Given the description of an element on the screen output the (x, y) to click on. 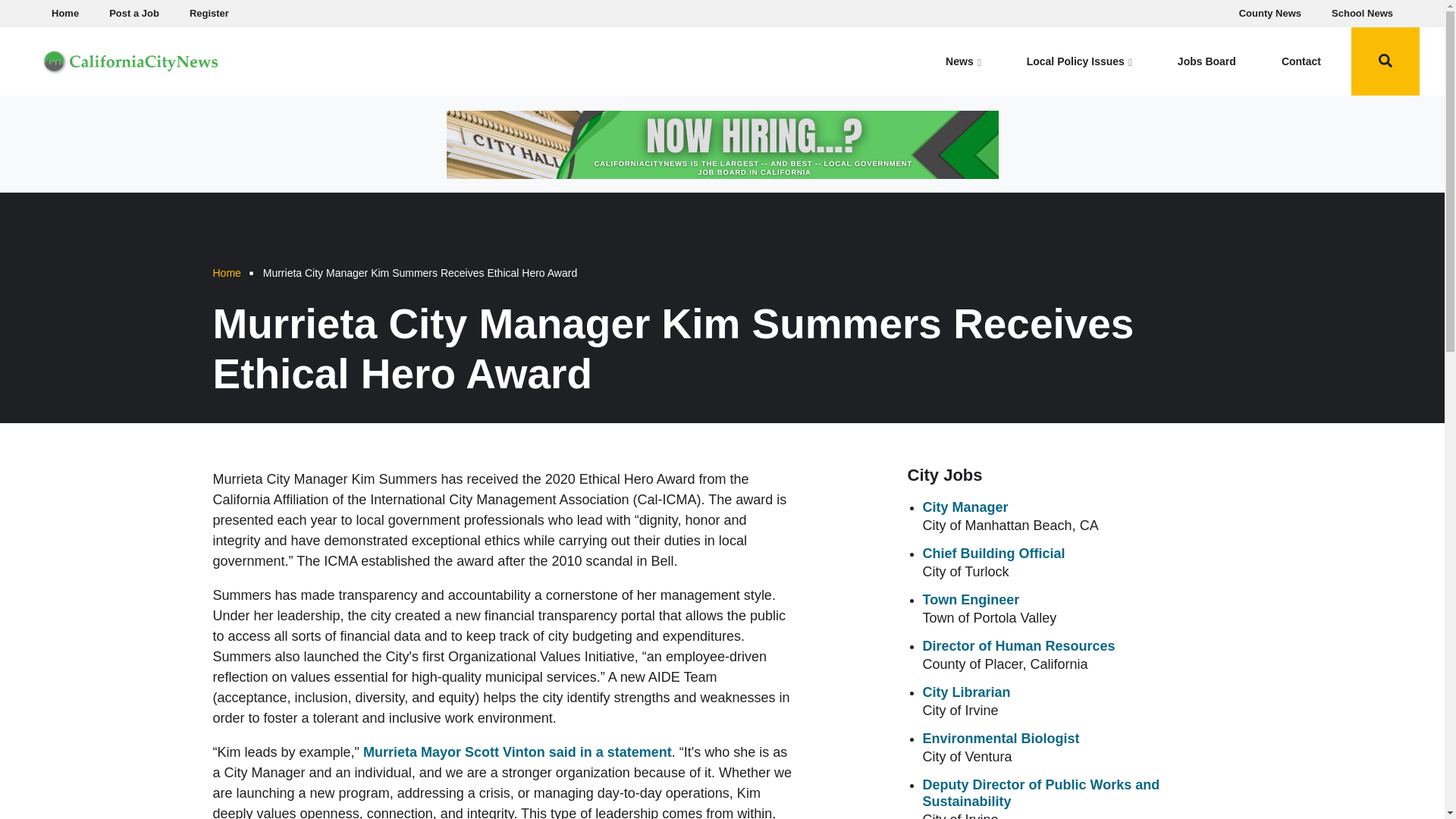
County News (1269, 13)
Home (130, 59)
Home (64, 13)
Jobs Board (1206, 61)
Register (208, 13)
Murrieta Mayor Scott Vinton said in a statement (516, 752)
School News (1361, 13)
Home (226, 272)
Post a Job (134, 13)
